Given the description of an element on the screen output the (x, y) to click on. 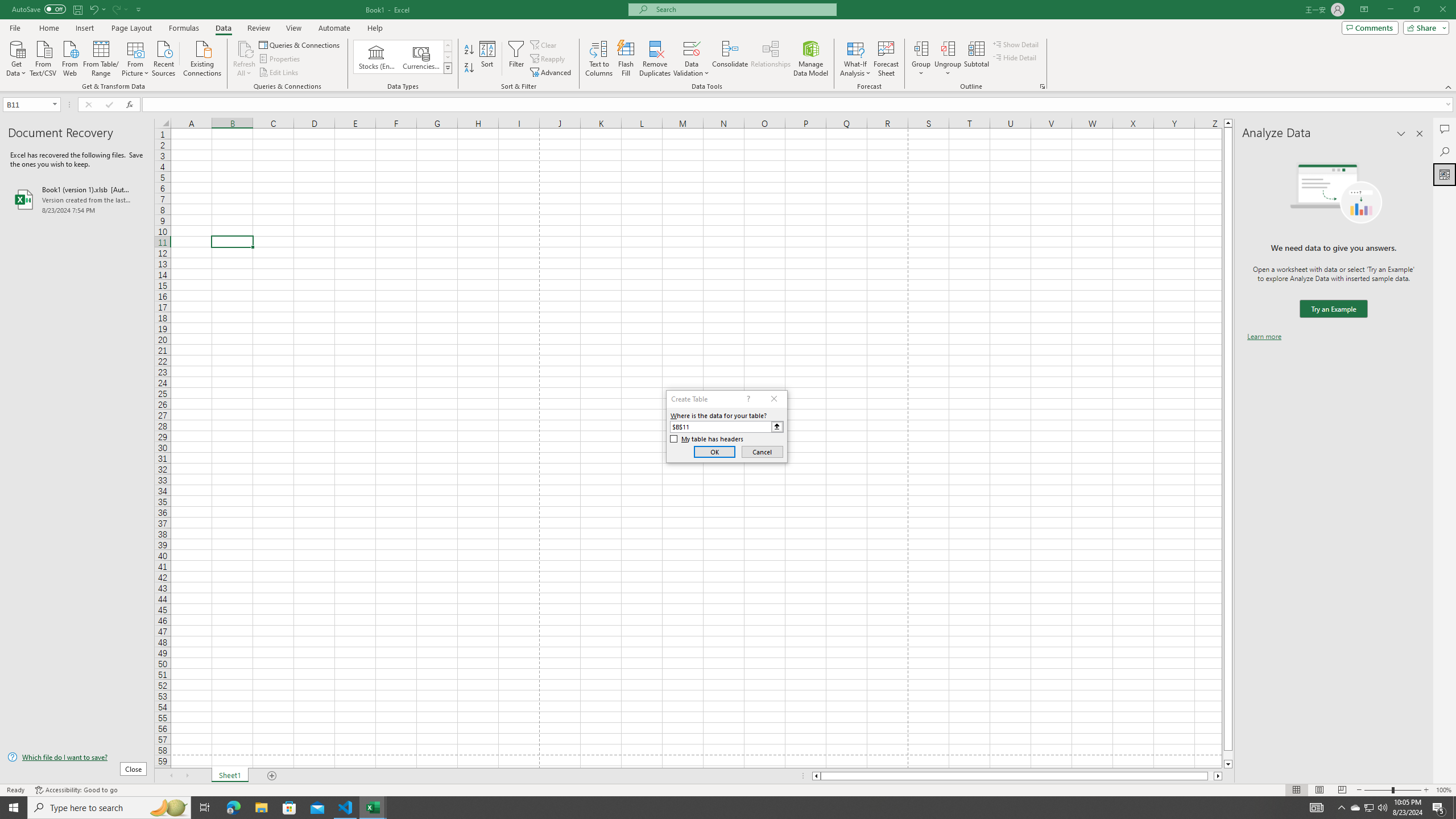
Show Detail (1016, 44)
Forecast Sheet (885, 58)
